Given the description of an element on the screen output the (x, y) to click on. 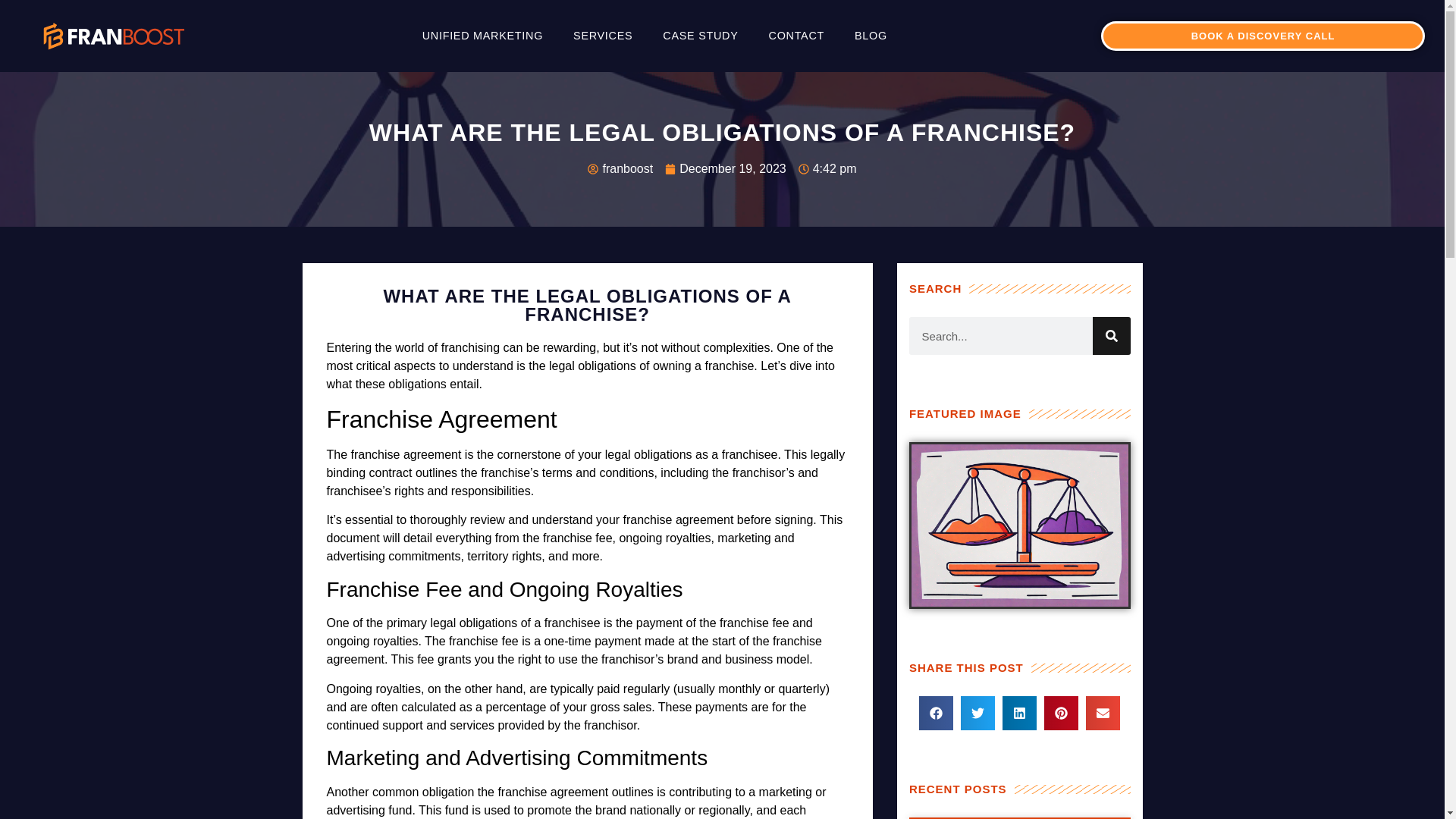
what are the legal obligations of a franchise - franboost (1019, 525)
SERVICES (602, 35)
franboost (620, 168)
CONTACT (797, 35)
UNIFIED MARKETING (482, 35)
BLOG (871, 35)
December 19, 2023 (725, 168)
CASE STUDY (699, 35)
BOOK A DISCOVERY CALL (1262, 35)
what are the legal obligations of a franchise - franboost (113, 35)
